Given the description of an element on the screen output the (x, y) to click on. 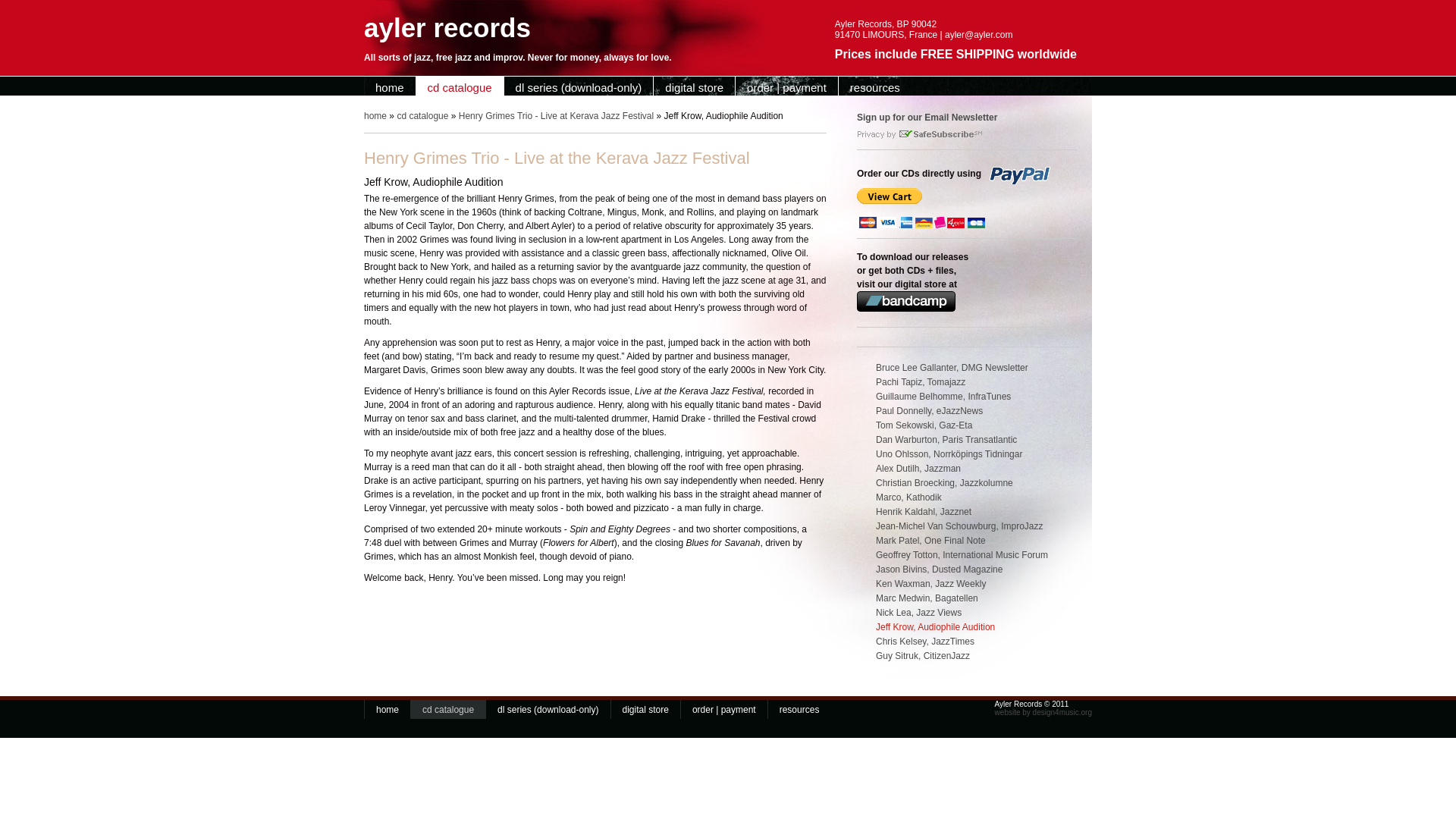
digital store (694, 87)
Henry Grimes Trio - Live at the Kerava Jazz Festival (967, 412)
Henry Grimes Trio - Live at the Kerava Jazz Festival (967, 369)
Sign up for our Email Newsletter (927, 117)
Henry Grimes Trio - Live at the Kerava Jazz Festival (967, 484)
cd catalogue (422, 115)
all sorts of jazz, improv or else - hot off the press (389, 87)
Pachi Tapiz, Tomajazz (967, 383)
cd catalogue (447, 709)
Henry Grimes Trio - Live at the Kerava Jazz Festival (967, 470)
home (387, 709)
cd catalogue (459, 87)
Ken Waxman, Jazz Weekly (967, 585)
Guillaume Belhomme, InfraTunes (967, 398)
